Given the description of an element on the screen output the (x, y) to click on. 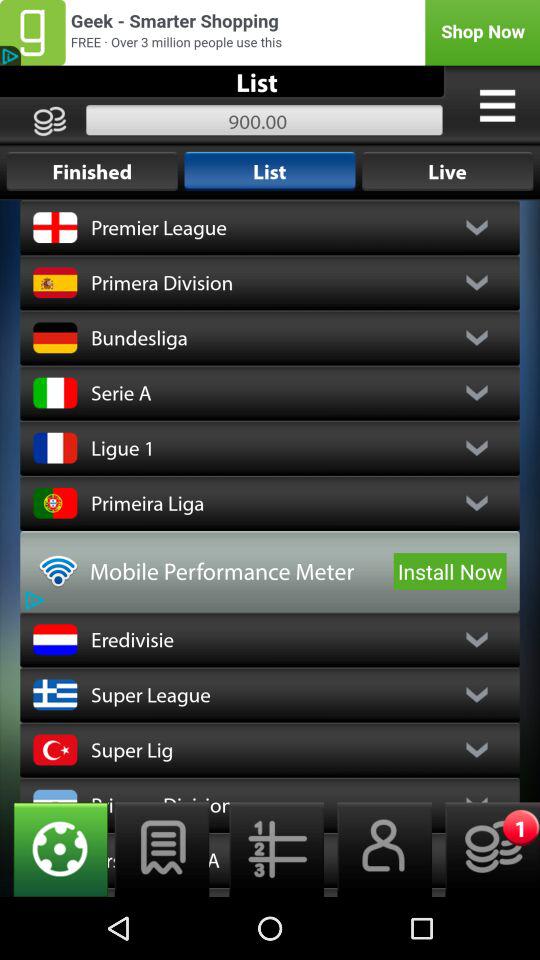
select icon above the  fa cup icon (270, 849)
